Given the description of an element on the screen output the (x, y) to click on. 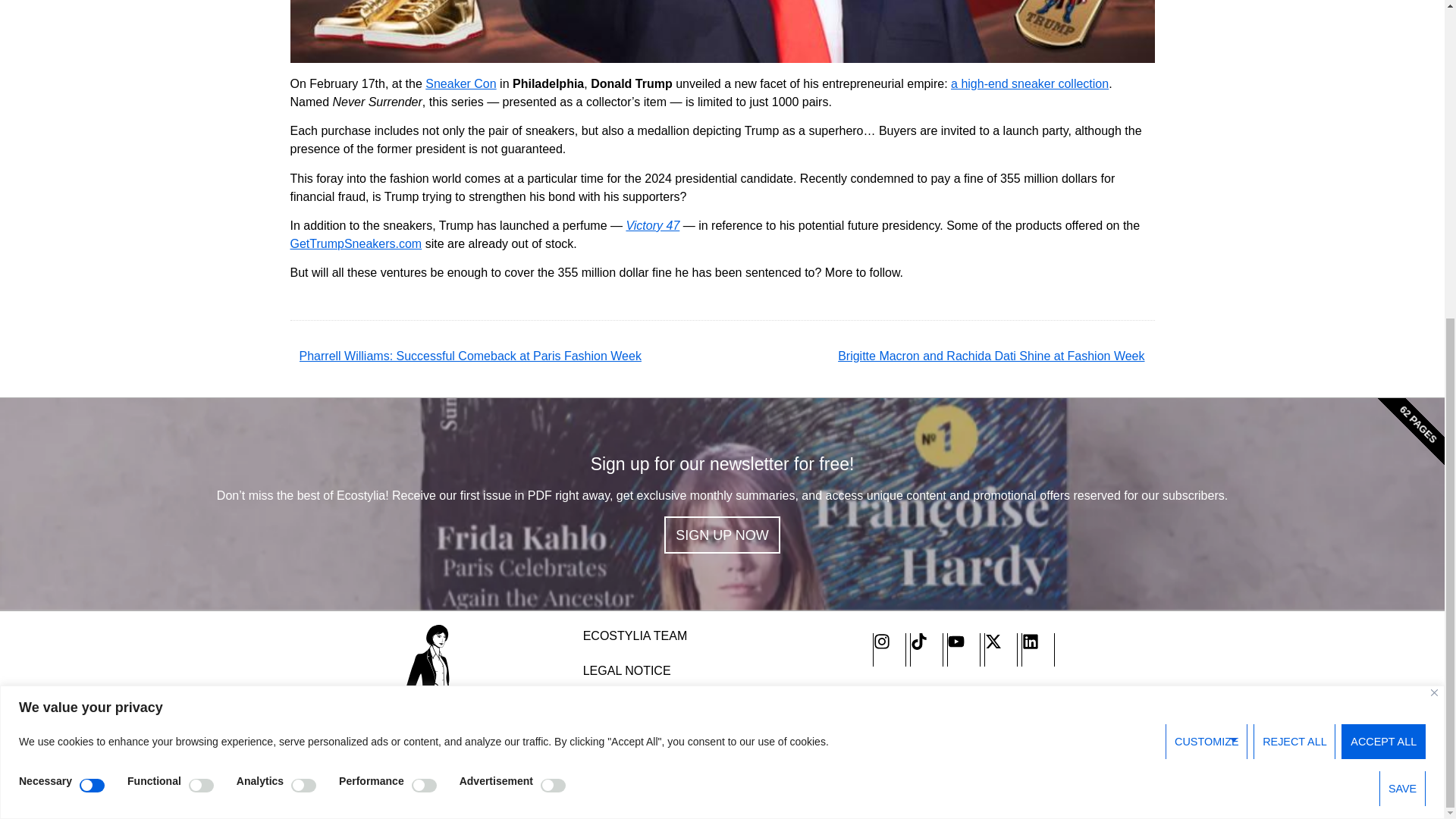
on (553, 270)
SAVE (1401, 273)
on (92, 270)
on (303, 270)
on (424, 270)
CUSTOMIZE (1206, 226)
on (201, 270)
ACCEPT ALL (1382, 226)
REJECT ALL (1294, 226)
